Given the description of an element on the screen output the (x, y) to click on. 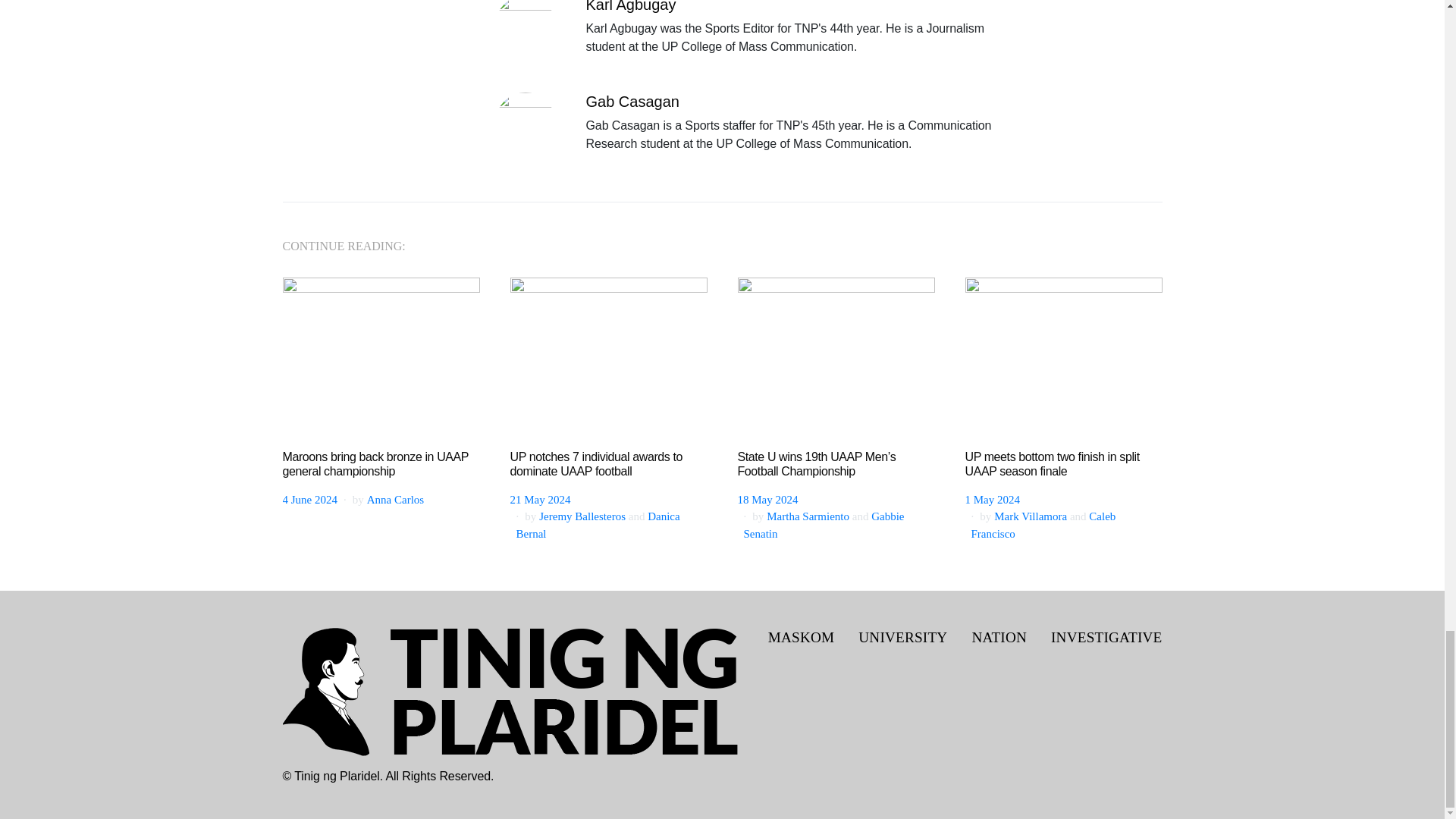
Posts by Caleb Francisco (1043, 524)
Posts by Danica Bernal (597, 524)
Posts by Anna Carlos (394, 499)
Posts by Martha Sarmiento (807, 516)
Posts by Jeremy Ballesteros (582, 516)
Posts by Gabbie Senatin (823, 524)
Posts by Mark Villamora (1030, 516)
